Given the description of an element on the screen output the (x, y) to click on. 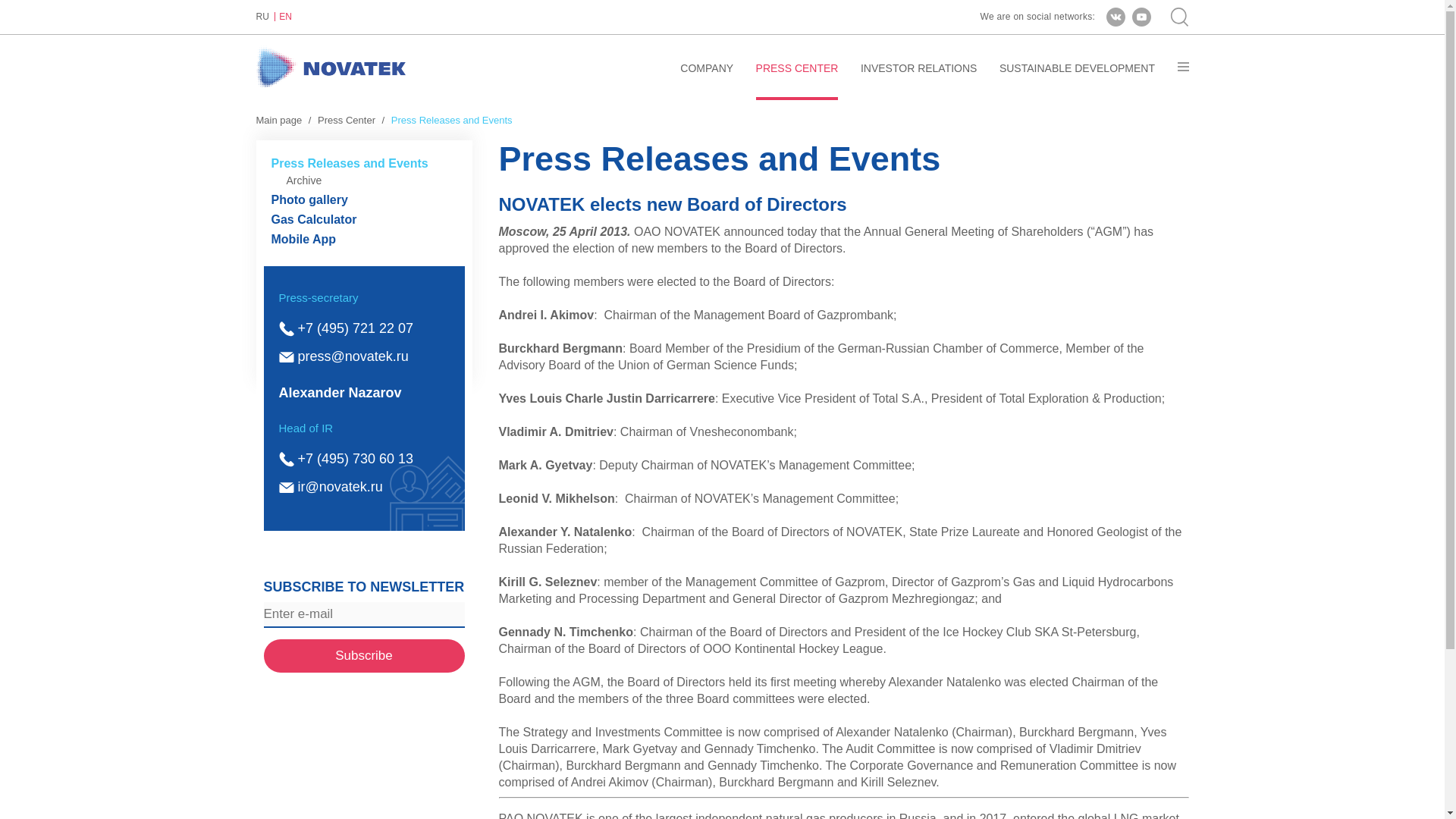
RU (266, 17)
Subscribe (363, 655)
COMPANY (706, 80)
INVESTOR RELATIONS (918, 80)
PRESS CENTER (796, 80)
EN (285, 17)
SUSTAINABLE DEVELOPMENT (1076, 80)
